Given the description of an element on the screen output the (x, y) to click on. 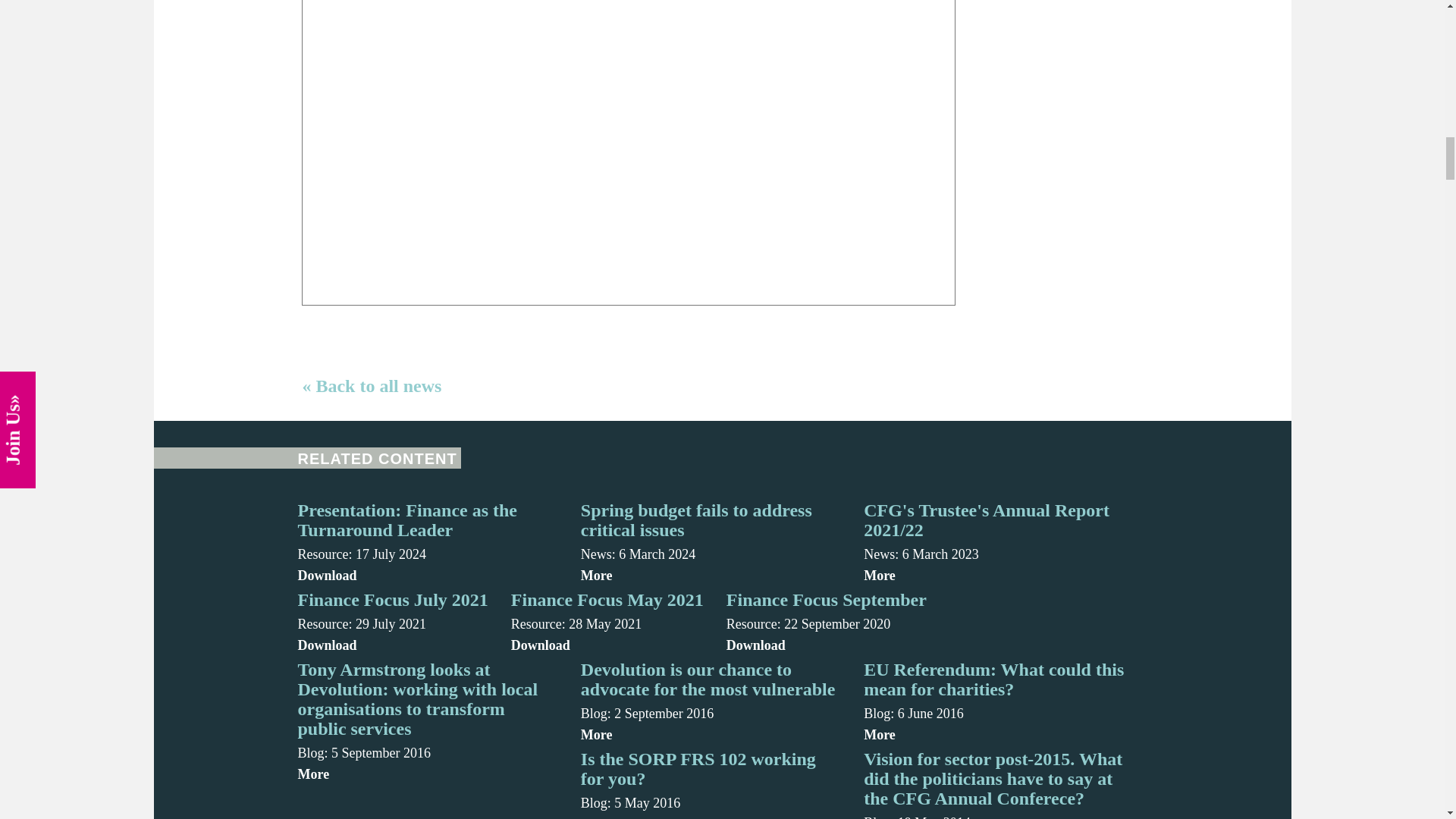
Download (392, 644)
More (993, 575)
Download (607, 644)
Download (427, 575)
Download (826, 644)
More (710, 575)
